Given the description of an element on the screen output the (x, y) to click on. 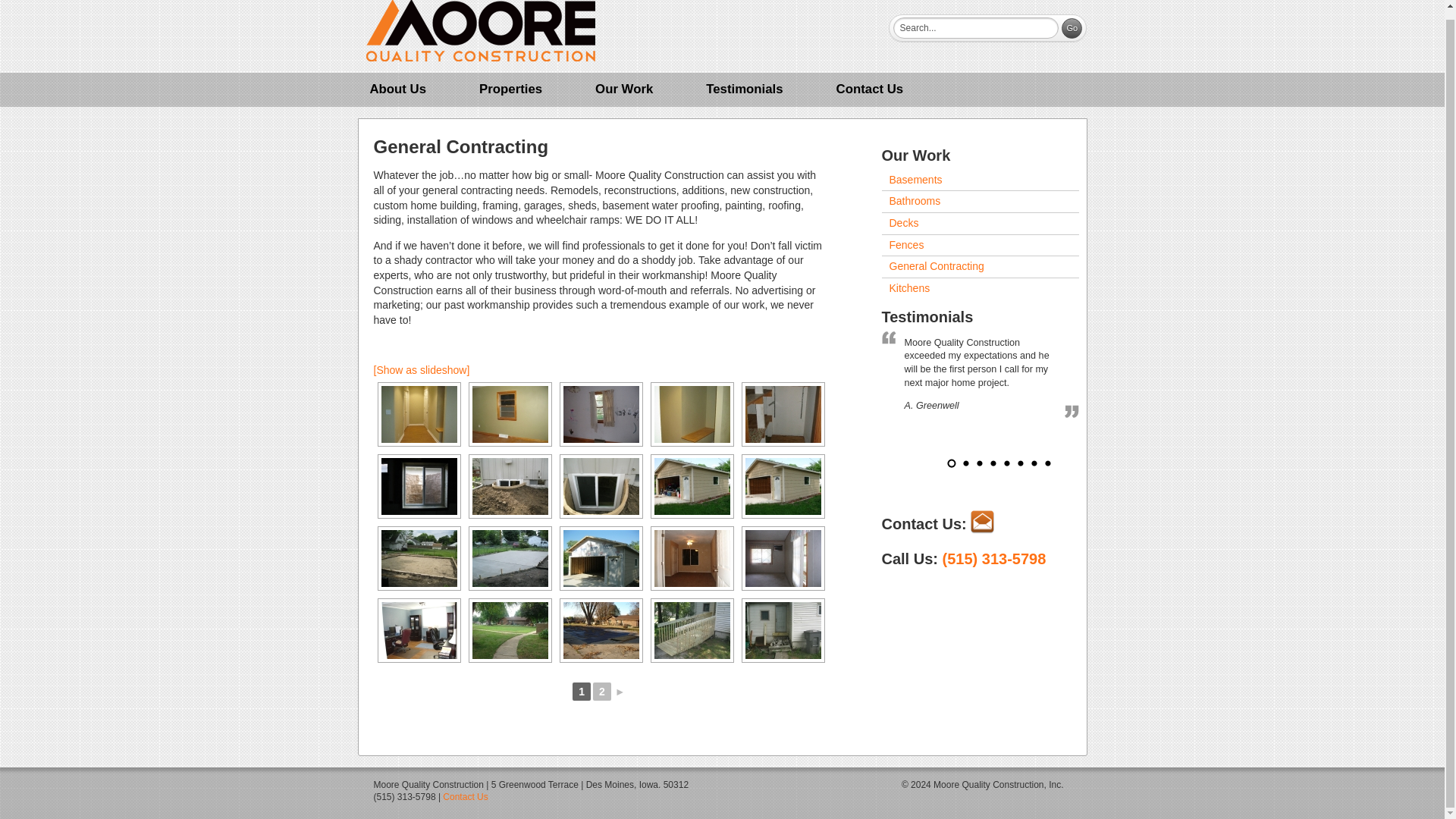
Need Moore Quality (480, 34)
2 (601, 691)
Basements (979, 179)
Properties (510, 89)
arches (418, 414)
Search... (975, 27)
Testimonials (743, 89)
About Us (398, 89)
Search... (975, 27)
Bathrooms (979, 201)
Contact Us (870, 89)
Decks (979, 223)
Go (1071, 28)
Fences (979, 245)
Our Work (623, 89)
